Given the description of an element on the screen output the (x, y) to click on. 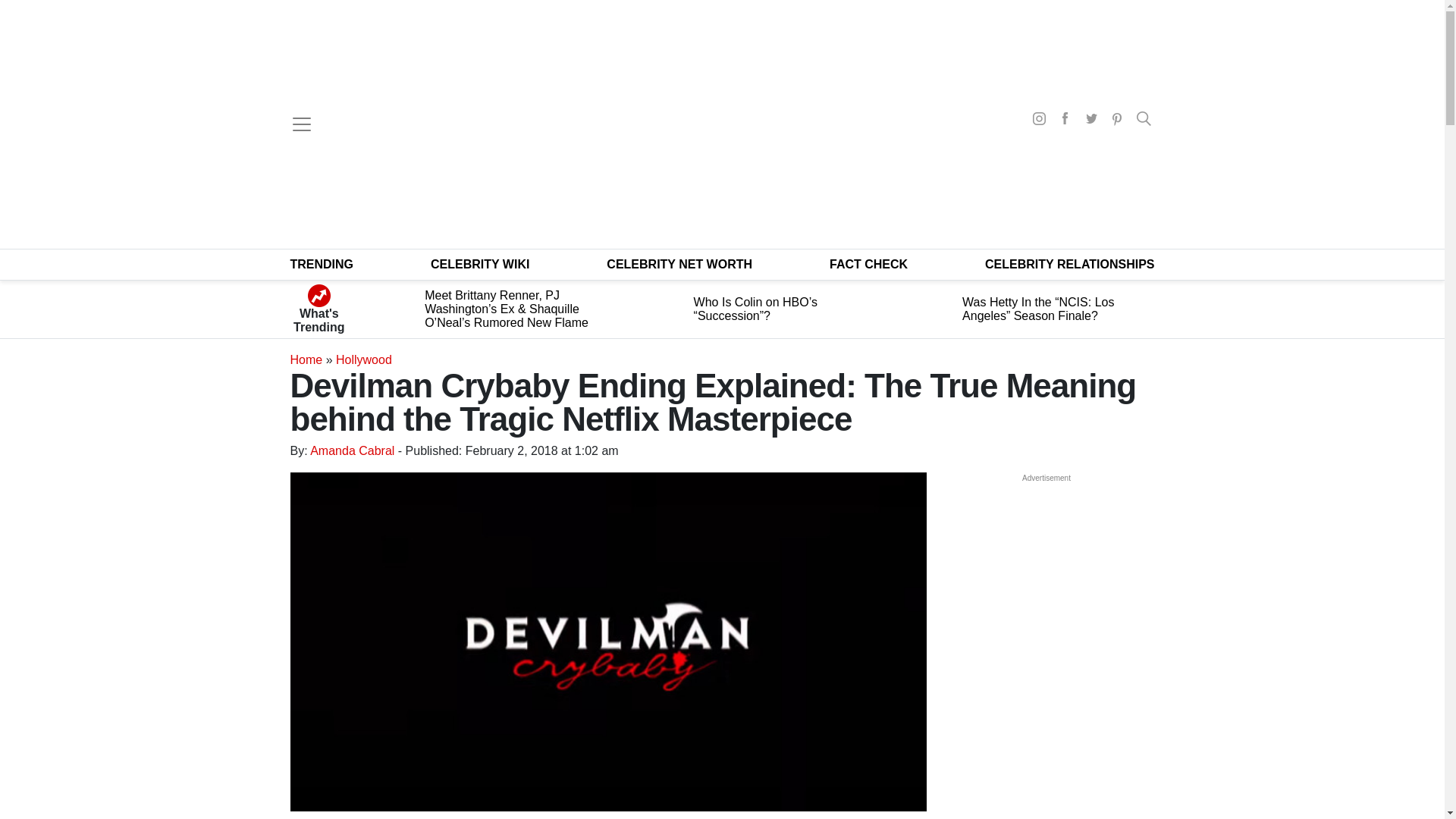
Menu (301, 124)
CELEBRITY WIKI (479, 264)
Home (305, 359)
CELEBRITY RELATIONSHIPS (1069, 264)
Amanda Cabral (352, 450)
Hollywood (363, 359)
FACT CHECK (868, 264)
TRENDING (321, 264)
CELEBRITY NET WORTH (679, 264)
Posts by Amanda Cabral (352, 450)
